Given the description of an element on the screen output the (x, y) to click on. 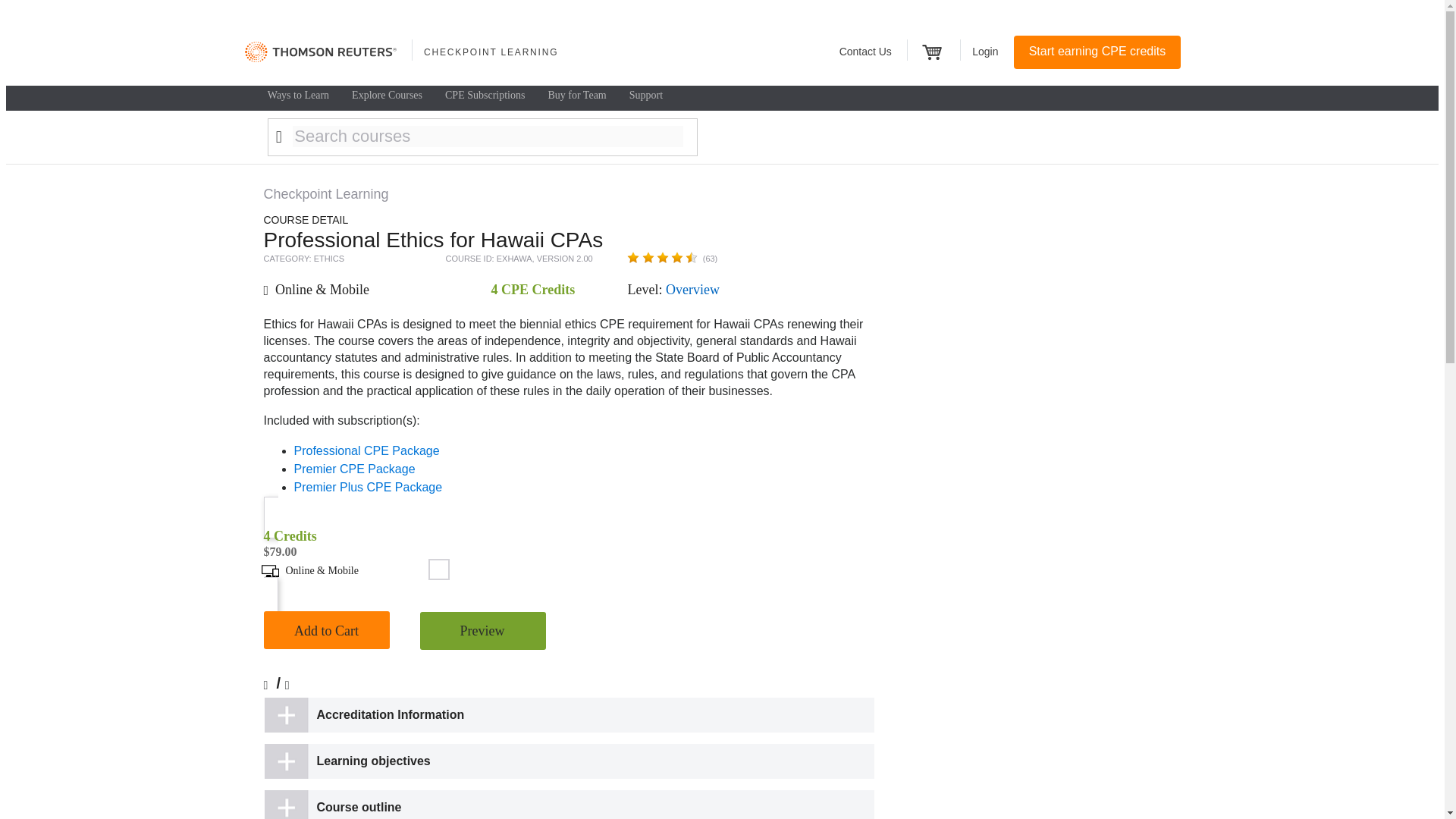
Start earning CPE credits (1096, 52)
CPE Subscriptions (484, 95)
gorgeous (691, 257)
gorgeous (633, 257)
Explore Courses (387, 95)
Login (984, 51)
Ways to Learn (298, 95)
gorgeous (647, 257)
gorgeous (676, 257)
Support (645, 95)
Contact Us (872, 51)
gorgeous (662, 257)
Buy for Team (576, 95)
gorgeous (662, 257)
